Given the description of an element on the screen output the (x, y) to click on. 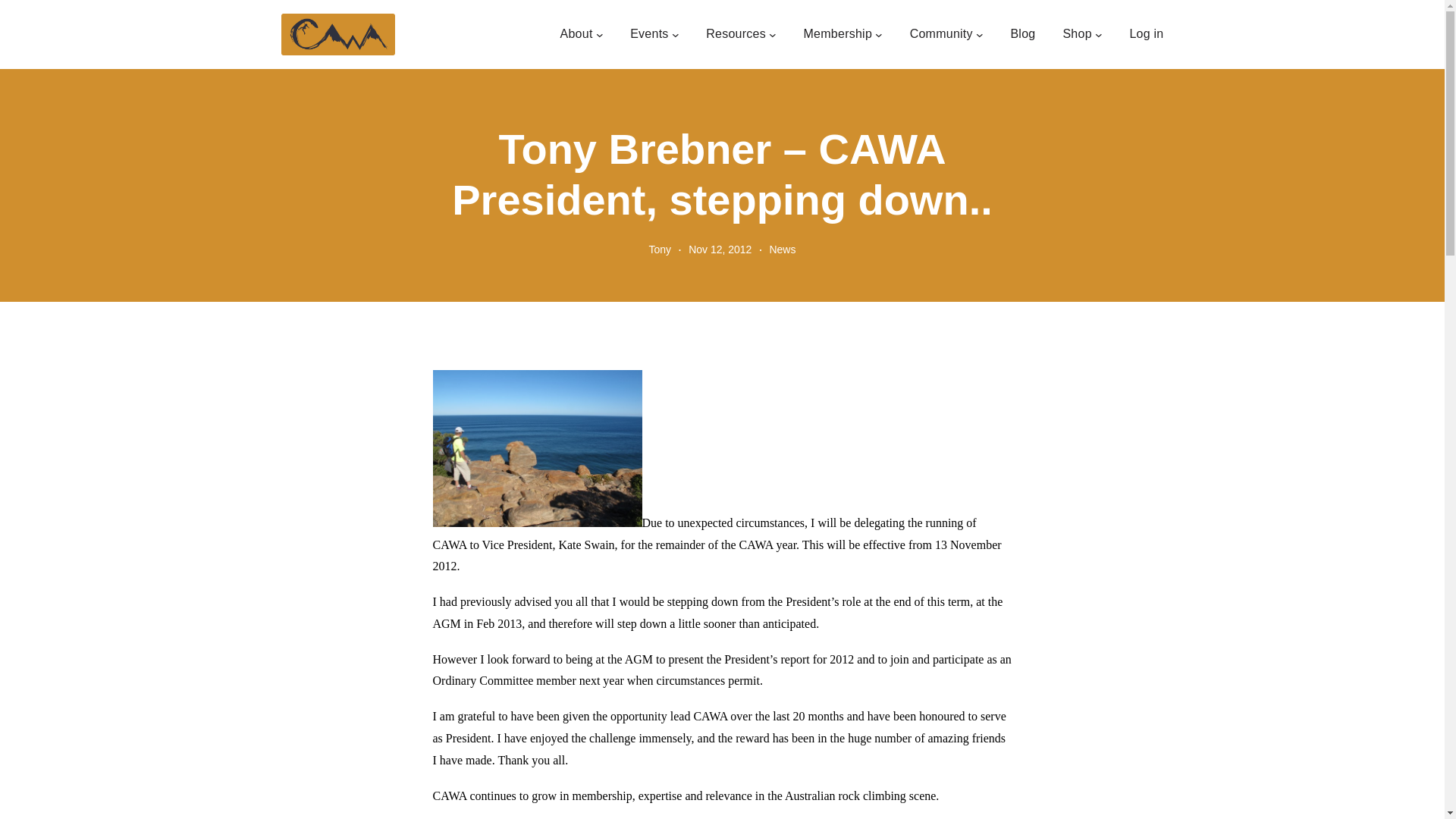
Blog (1022, 34)
Resources (735, 34)
Membership (837, 34)
Community (941, 34)
About (576, 34)
Events (649, 34)
